Given the description of an element on the screen output the (x, y) to click on. 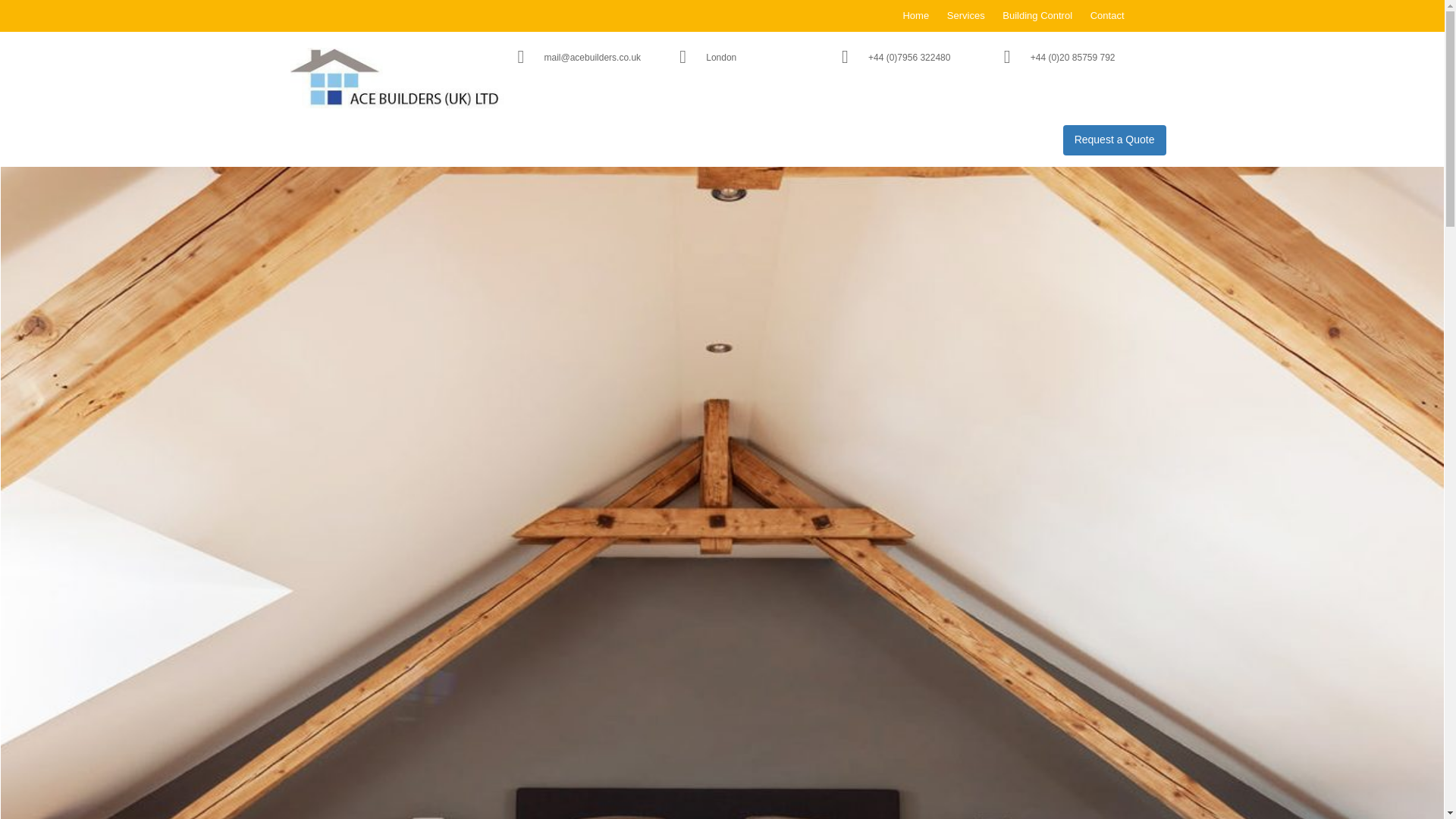
Contact (1107, 15)
Building Control (1037, 15)
Home (915, 15)
Request a Quote (1114, 140)
Services (966, 15)
